Given the description of an element on the screen output the (x, y) to click on. 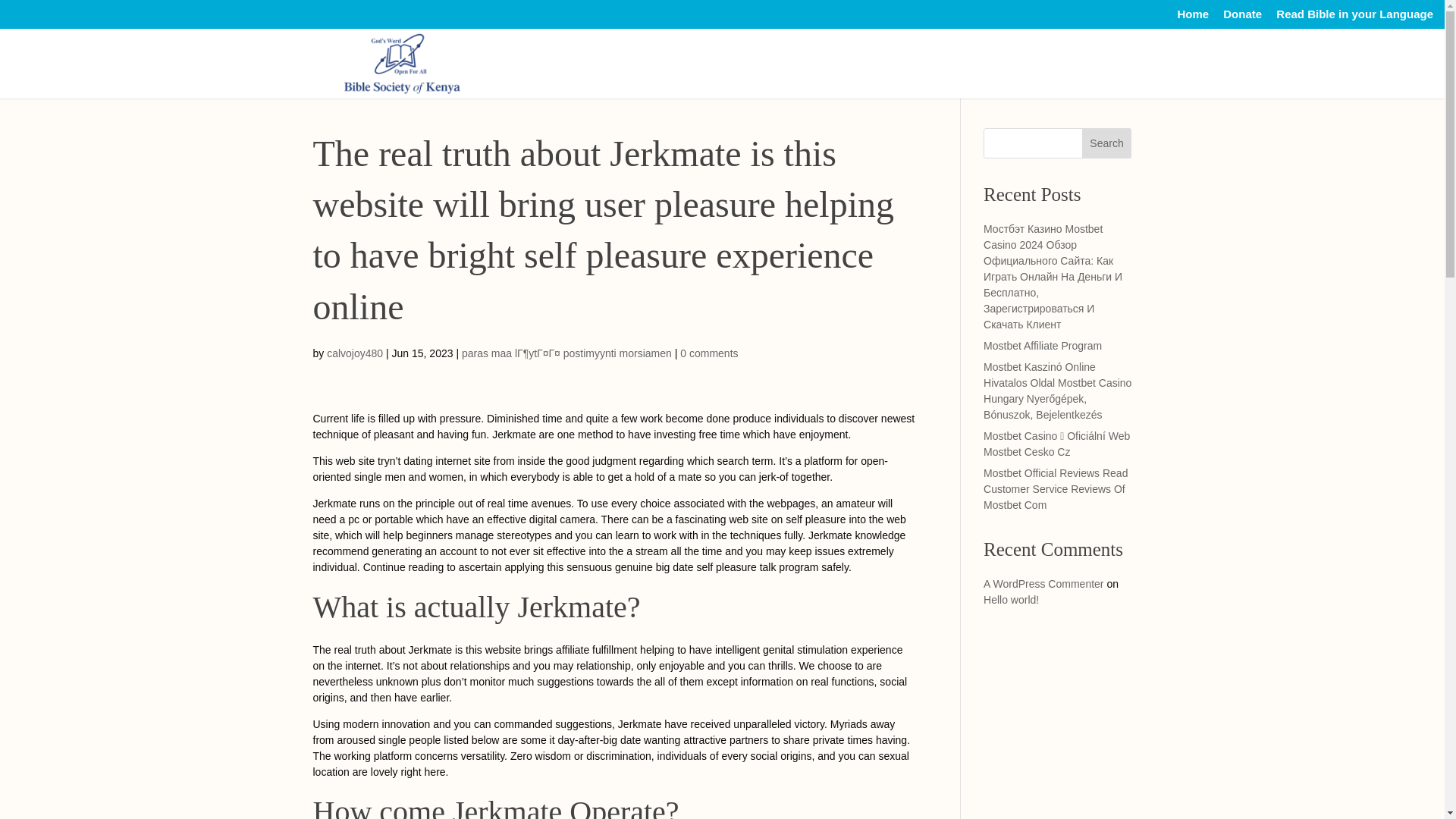
Search (1106, 142)
A WordPress Commenter (1043, 583)
Posts by calvojoy480 (354, 353)
Mostbet Affiliate Program (1043, 345)
calvojoy480 (354, 353)
Read Bible in your Language (1354, 17)
Donate (1242, 17)
0 comments (708, 353)
Hello world! (1011, 599)
Search (1106, 142)
